Given the description of an element on the screen output the (x, y) to click on. 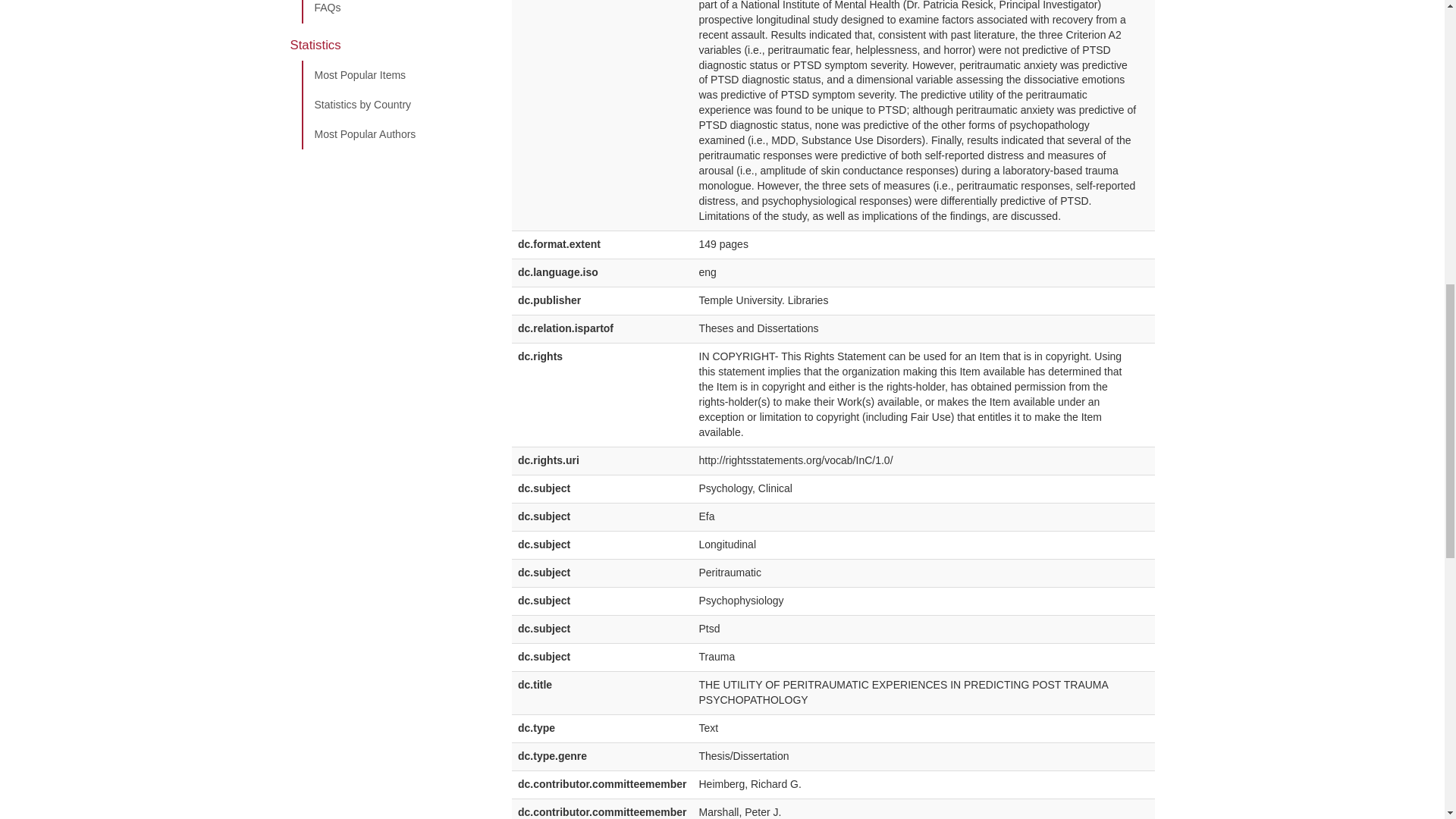
Statistics by Country (395, 105)
Most Popular Items (395, 75)
FAQs (395, 11)
Most Popular Authors (395, 134)
